Given the description of an element on the screen output the (x, y) to click on. 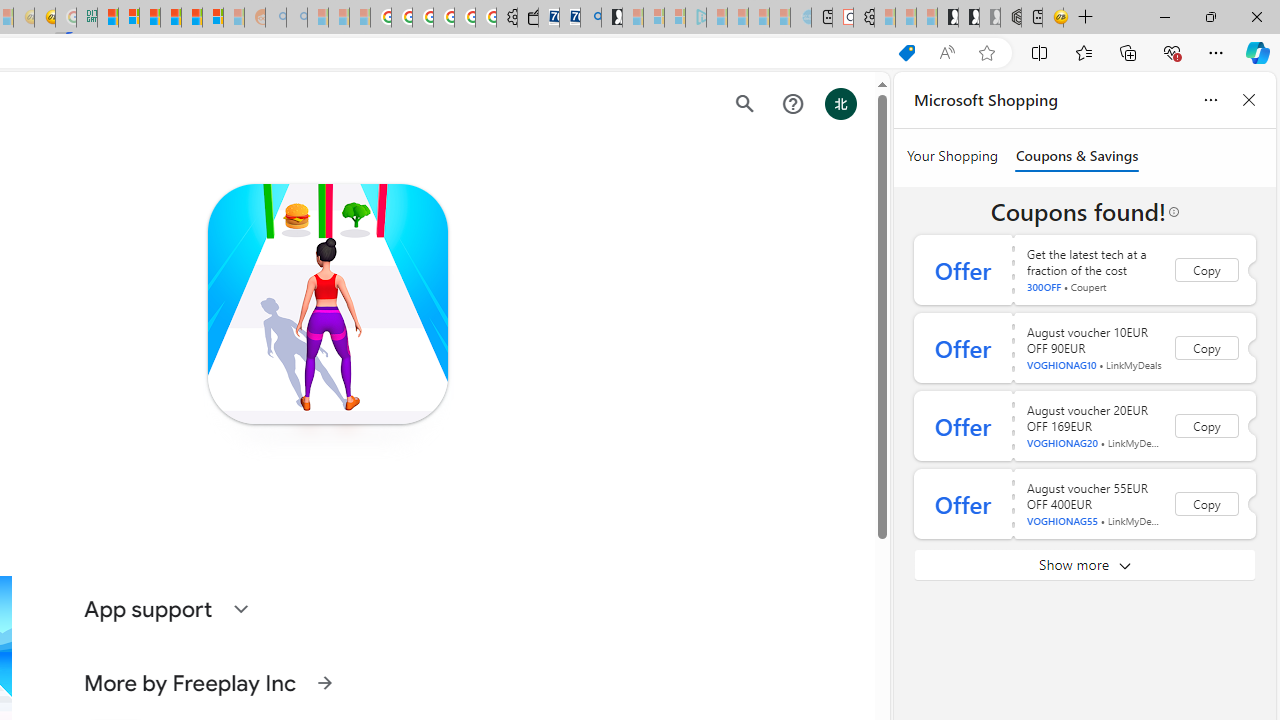
Bing Real Estate - Home sales and rental listings (591, 17)
Split screen (1039, 52)
Help Center (792, 103)
Read aloud this page (Ctrl+Shift+U) (946, 53)
Kinda Frugal - MSN (191, 17)
MSNBC - MSN (107, 17)
Microsoft Start Gaming (611, 17)
Cheap Car Rentals - Save70.com (569, 17)
Restore (1210, 16)
Microsoft account | Privacy (129, 17)
Home | Sky Blue Bikes - Sky Blue Bikes - Sleeping (801, 17)
